Given the description of an element on the screen output the (x, y) to click on. 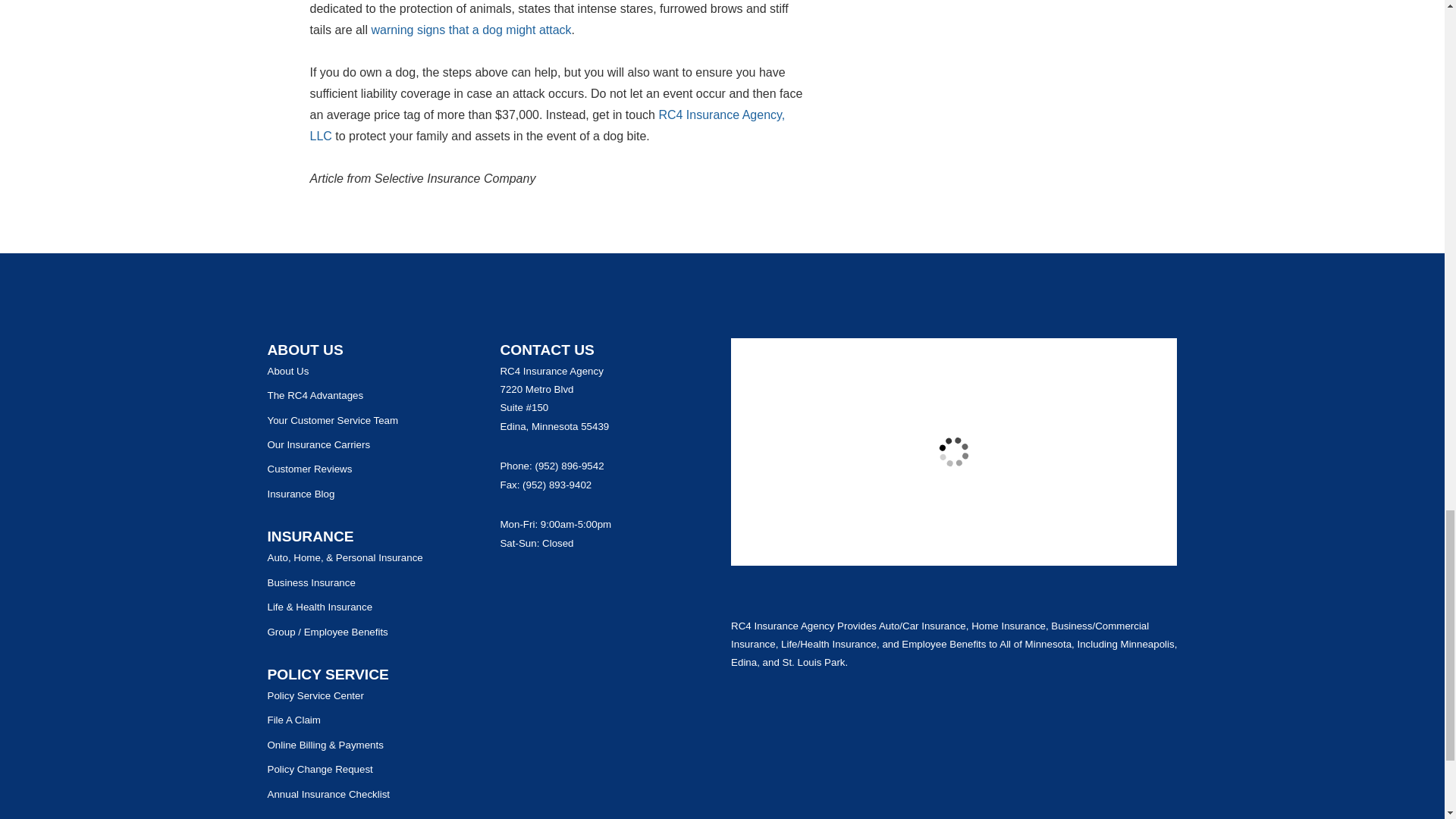
Google Maps (509, 584)
X (586, 584)
Yelp (535, 584)
Facebook (561, 584)
LinkedIn (612, 584)
